Given the description of an element on the screen output the (x, y) to click on. 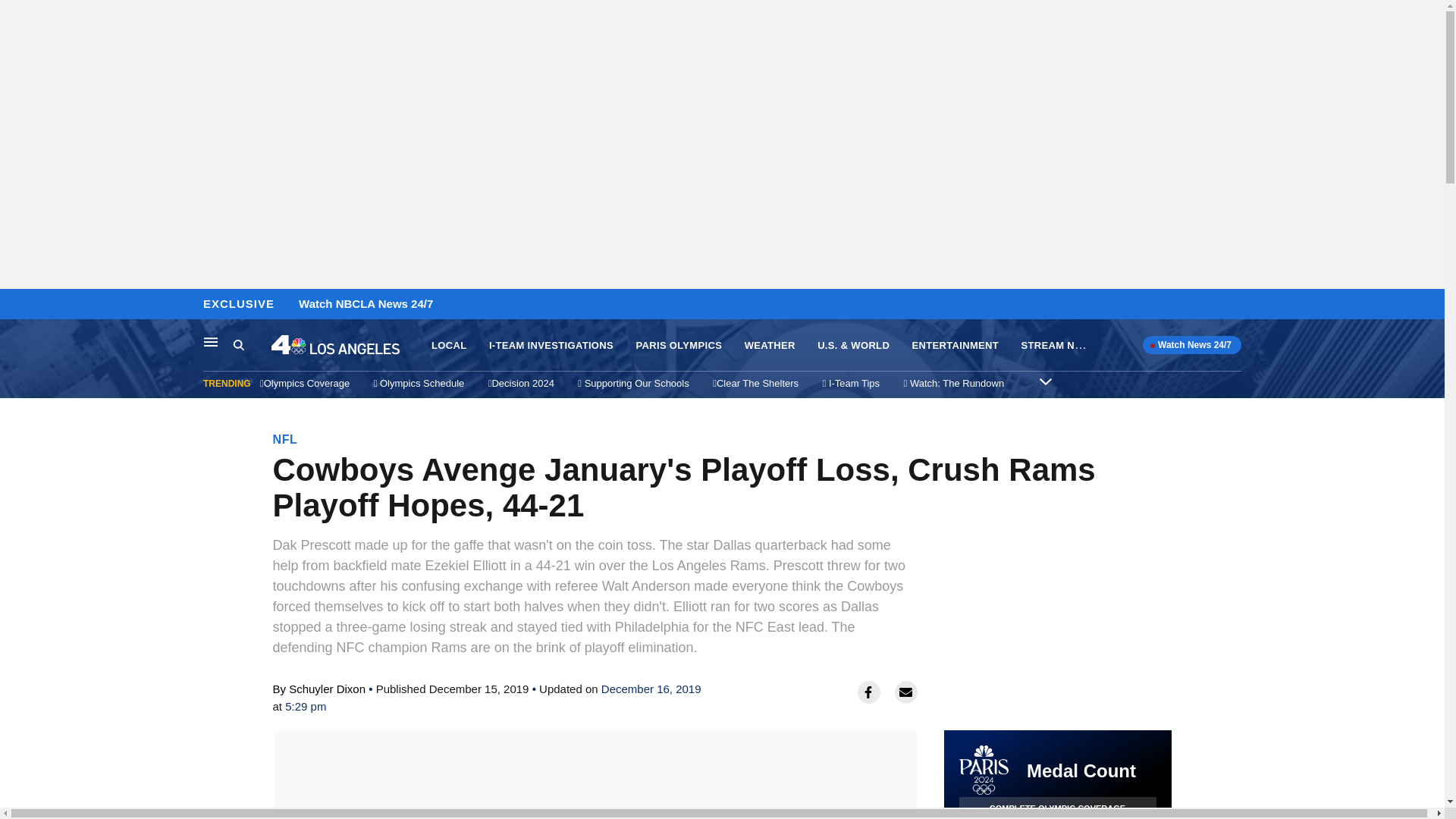
PARIS OLYMPICS (678, 345)
ENTERTAINMENT (955, 345)
WEATHER (769, 345)
Expand (1045, 381)
Main Navigation (210, 341)
NFL (285, 439)
Skip to content (16, 304)
Search (238, 344)
Search (252, 345)
I-TEAM INVESTIGATIONS (550, 345)
LOCAL (447, 345)
